Given the description of an element on the screen output the (x, y) to click on. 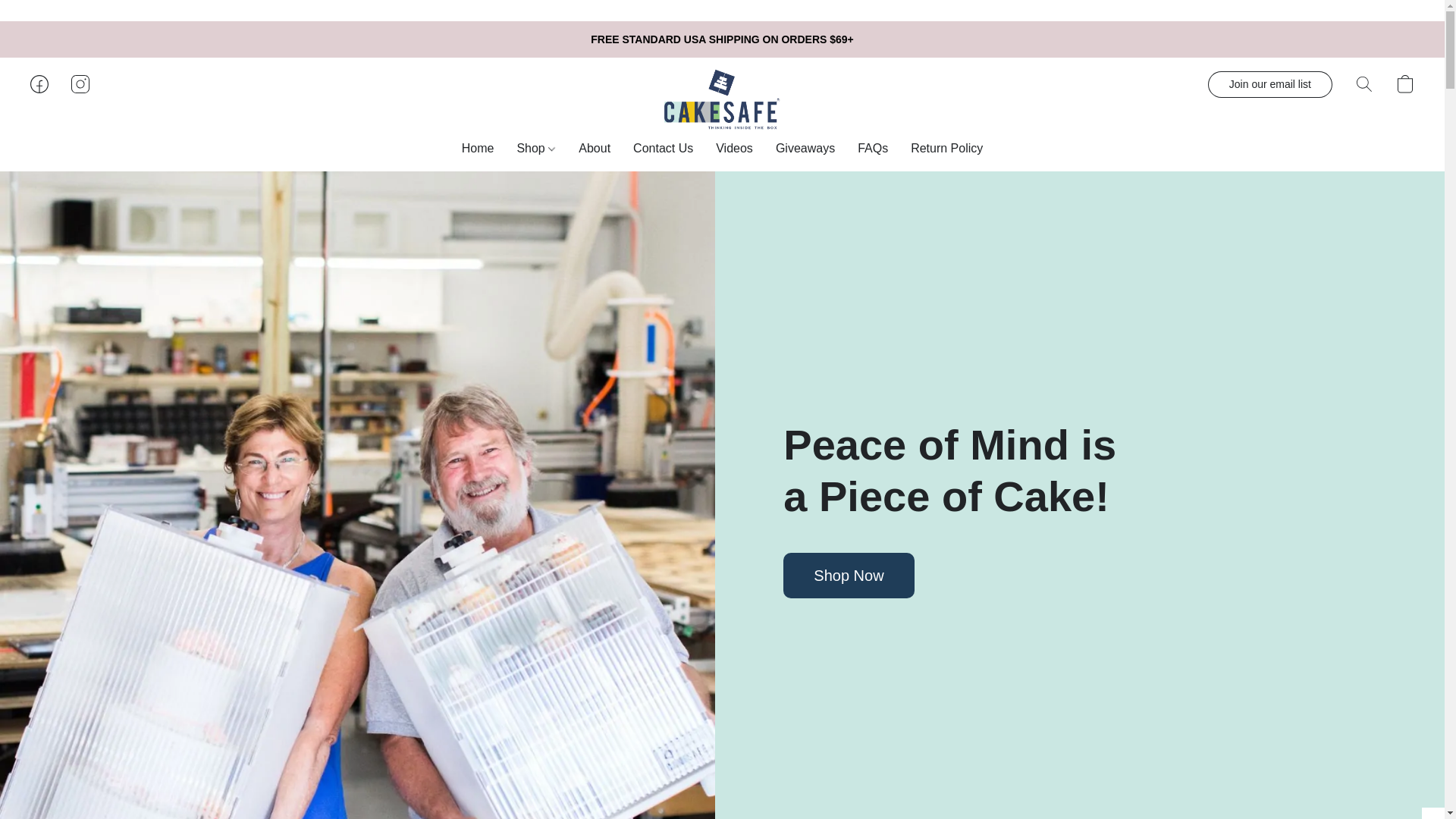
Return Policy (940, 148)
Home (483, 148)
Giveaways (804, 148)
Videos (734, 148)
Contact Us (662, 148)
Search the website (1363, 83)
Go to your shopping cart (1404, 83)
FAQs (872, 148)
About (594, 148)
Shop Now (848, 575)
Join our email list (1270, 84)
Shop (536, 148)
